Given the description of an element on the screen output the (x, y) to click on. 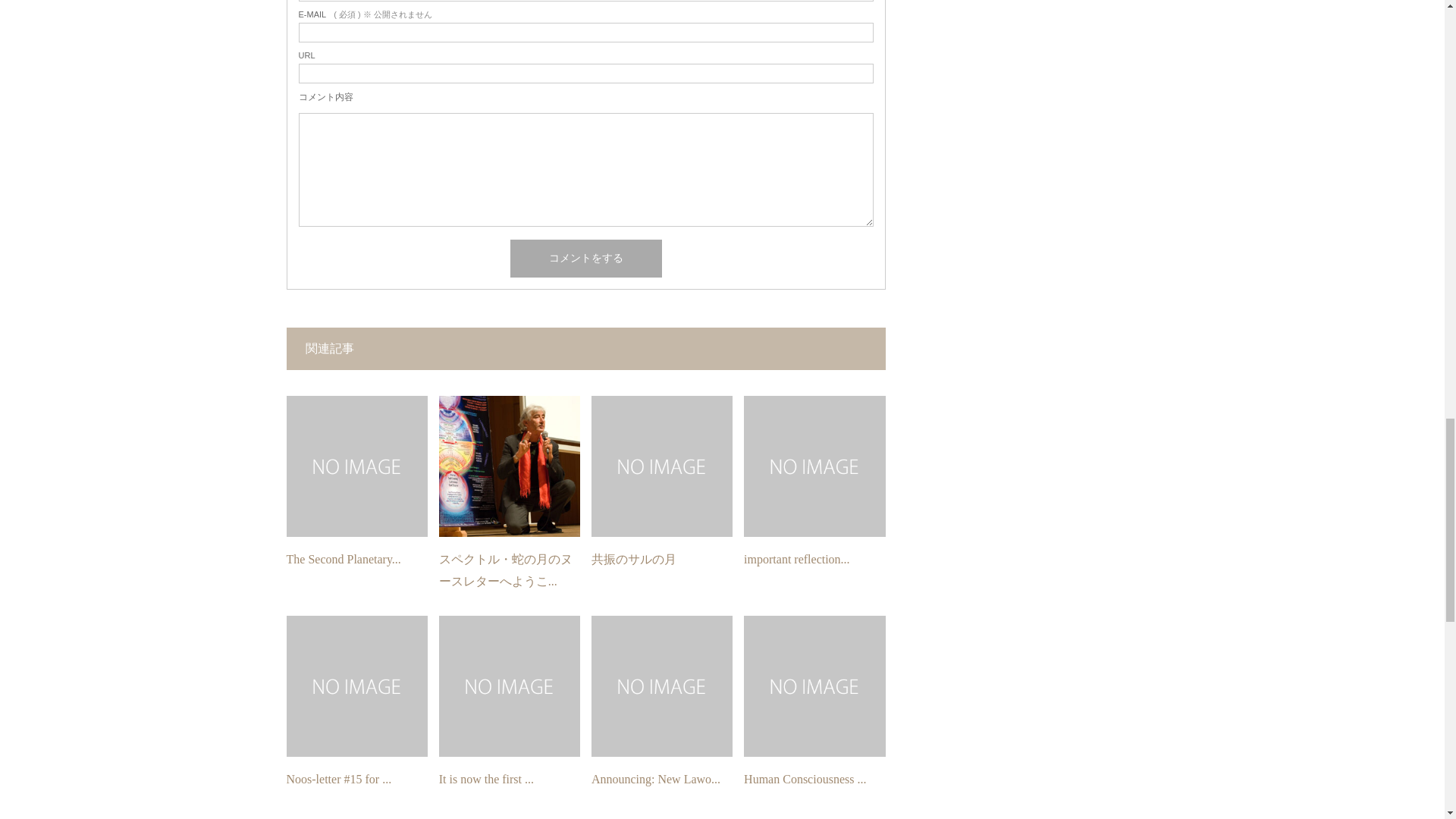
The Second Planetary... (343, 558)
It is now the first ... (486, 779)
important reflection... (797, 558)
